Given the description of an element on the screen output the (x, y) to click on. 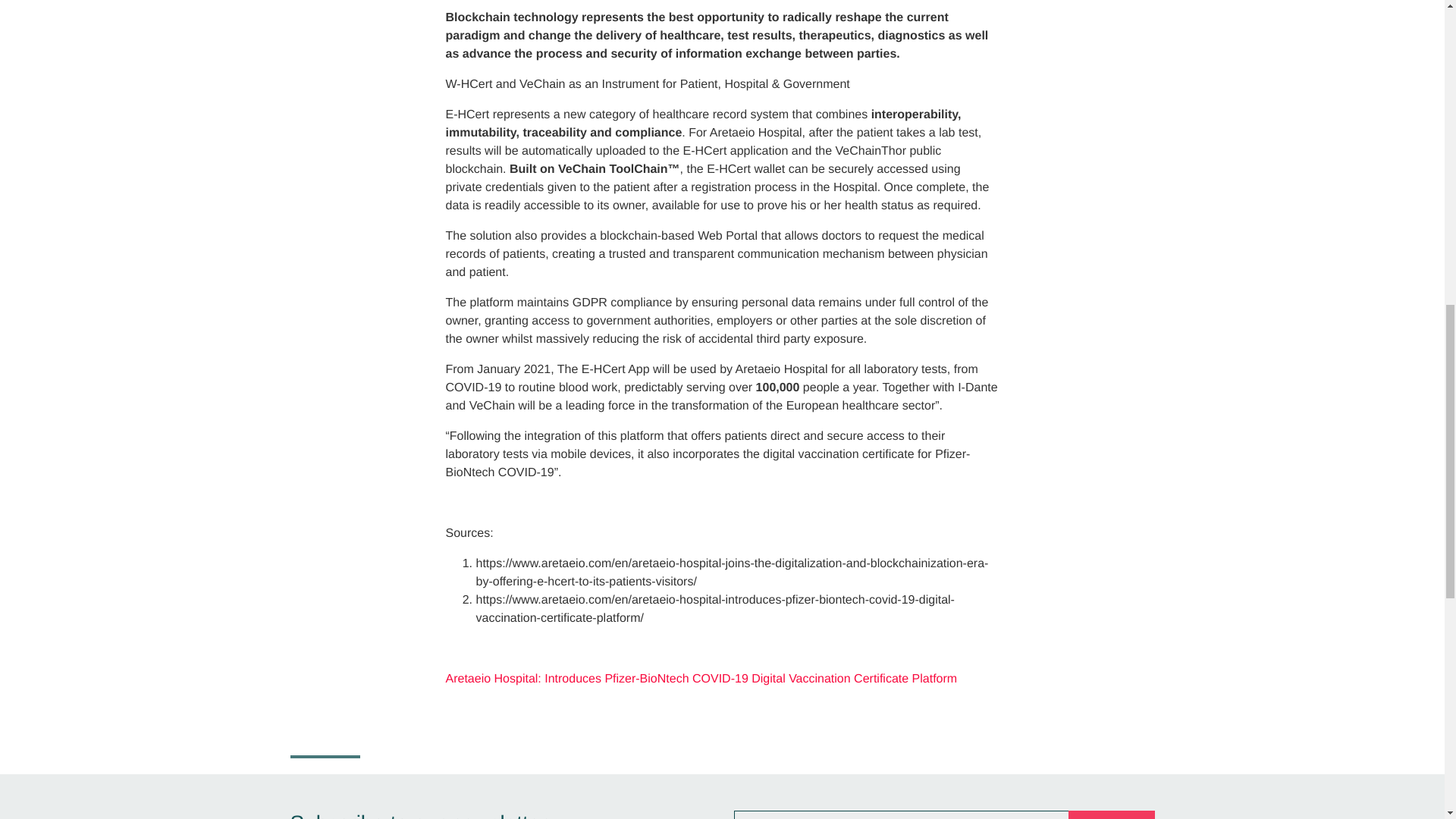
Subscribe (1111, 814)
Subscribe (1111, 814)
